Given the description of an element on the screen output the (x, y) to click on. 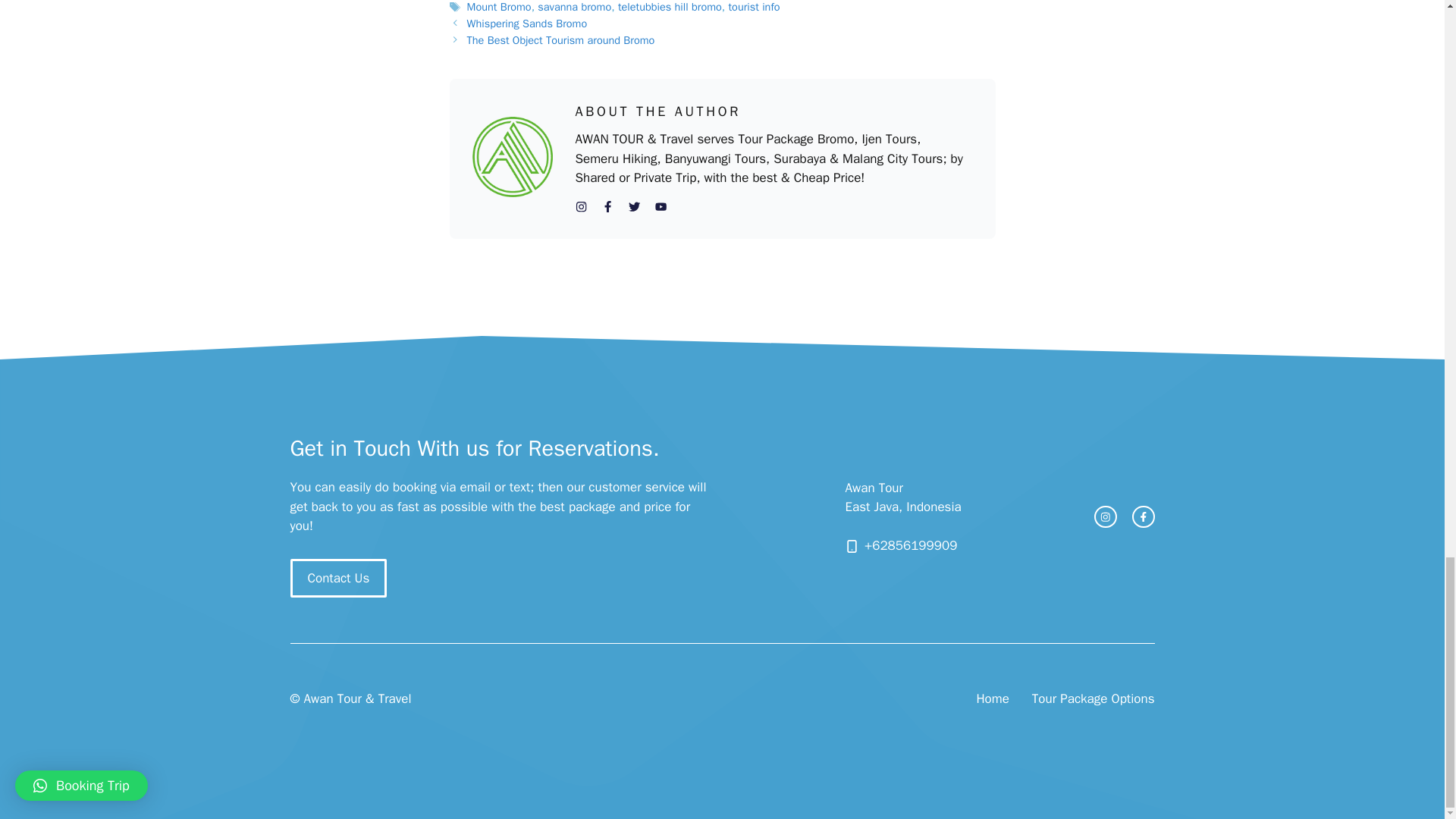
Tour Package Options (1093, 699)
The Best Object Tourism around Bromo (561, 39)
savanna bromo (574, 6)
Mount Bromo (499, 6)
teletubbies hill bromo (669, 6)
Home (992, 699)
Contact Us (338, 578)
Author-Bio (511, 157)
Whispering Sands Bromo (527, 23)
tourist info (753, 6)
